Given the description of an element on the screen output the (x, y) to click on. 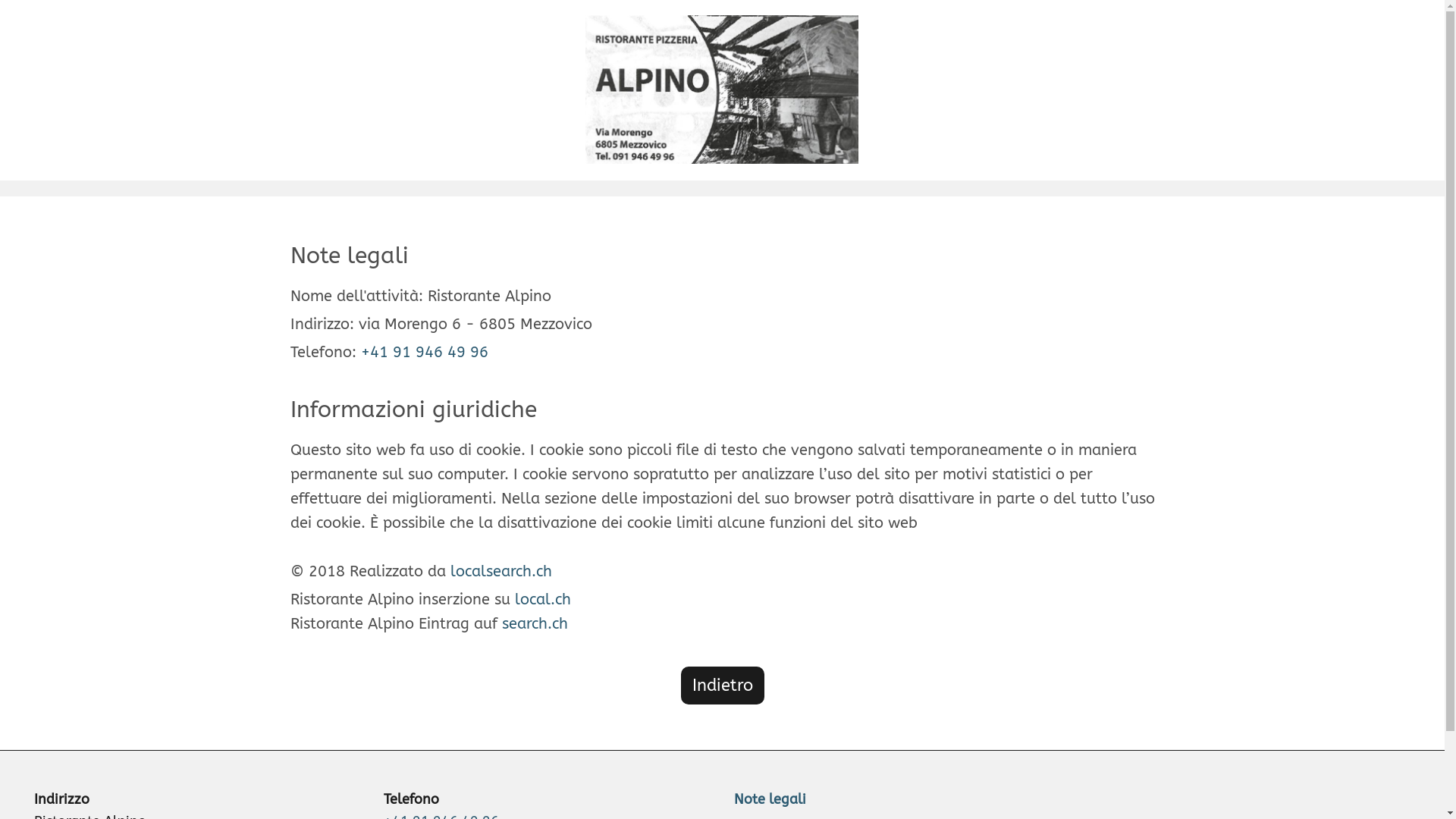
Indietro Element type: text (722, 685)
+41 91 946 49 96 Element type: text (424, 351)
search.ch Element type: text (534, 623)
localsearch.ch Element type: text (501, 571)
Note legali Element type: text (770, 798)
local.ch Element type: text (542, 599)
